Given the description of an element on the screen output the (x, y) to click on. 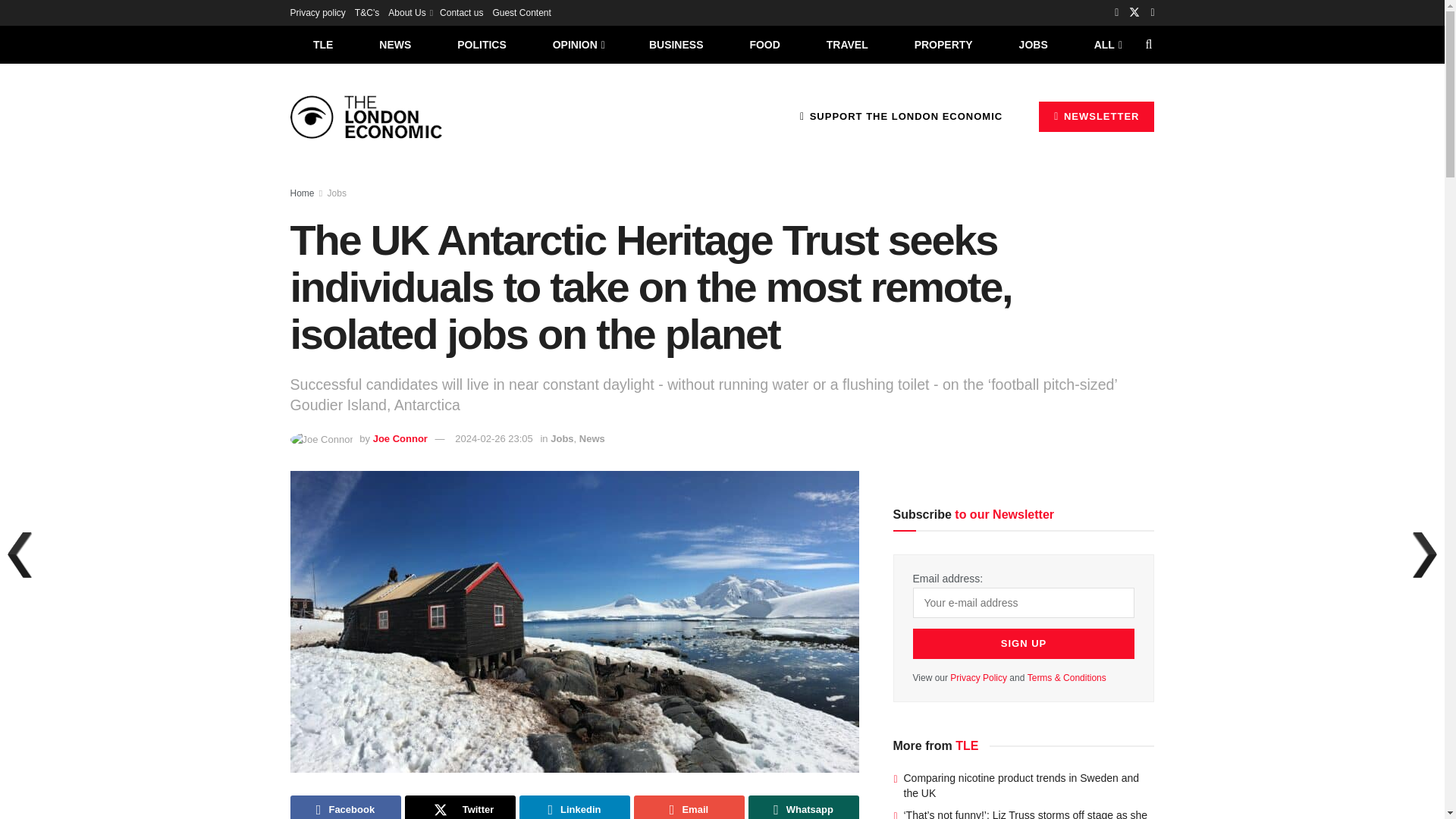
NEWSLETTER (1096, 116)
Home (301, 193)
SUPPORT THE LONDON ECONOMIC (900, 116)
POLITICS (481, 44)
BUSINESS (676, 44)
TRAVEL (847, 44)
JOBS (1032, 44)
ALL (1106, 44)
FOOD (764, 44)
Guest Content (521, 12)
